Given the description of an element on the screen output the (x, y) to click on. 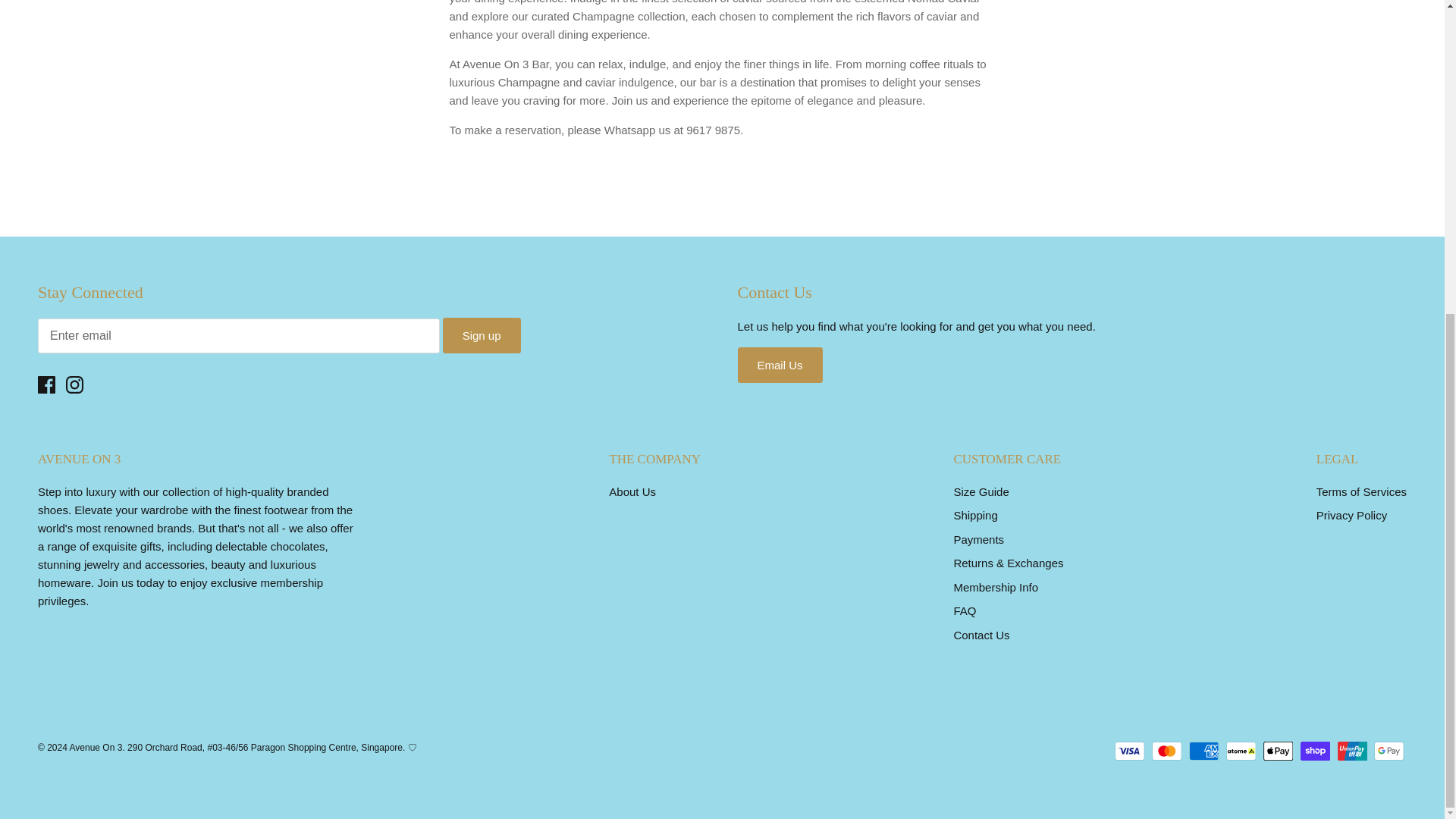
American Express (1203, 751)
Membership (130, 582)
Instagram (73, 384)
Google Pay (1388, 751)
Apple Pay (1277, 751)
Union Pay (1352, 751)
Visa (1129, 751)
Facebook (46, 384)
Shop Pay (1315, 751)
Mastercard (1166, 751)
